Given the description of an element on the screen output the (x, y) to click on. 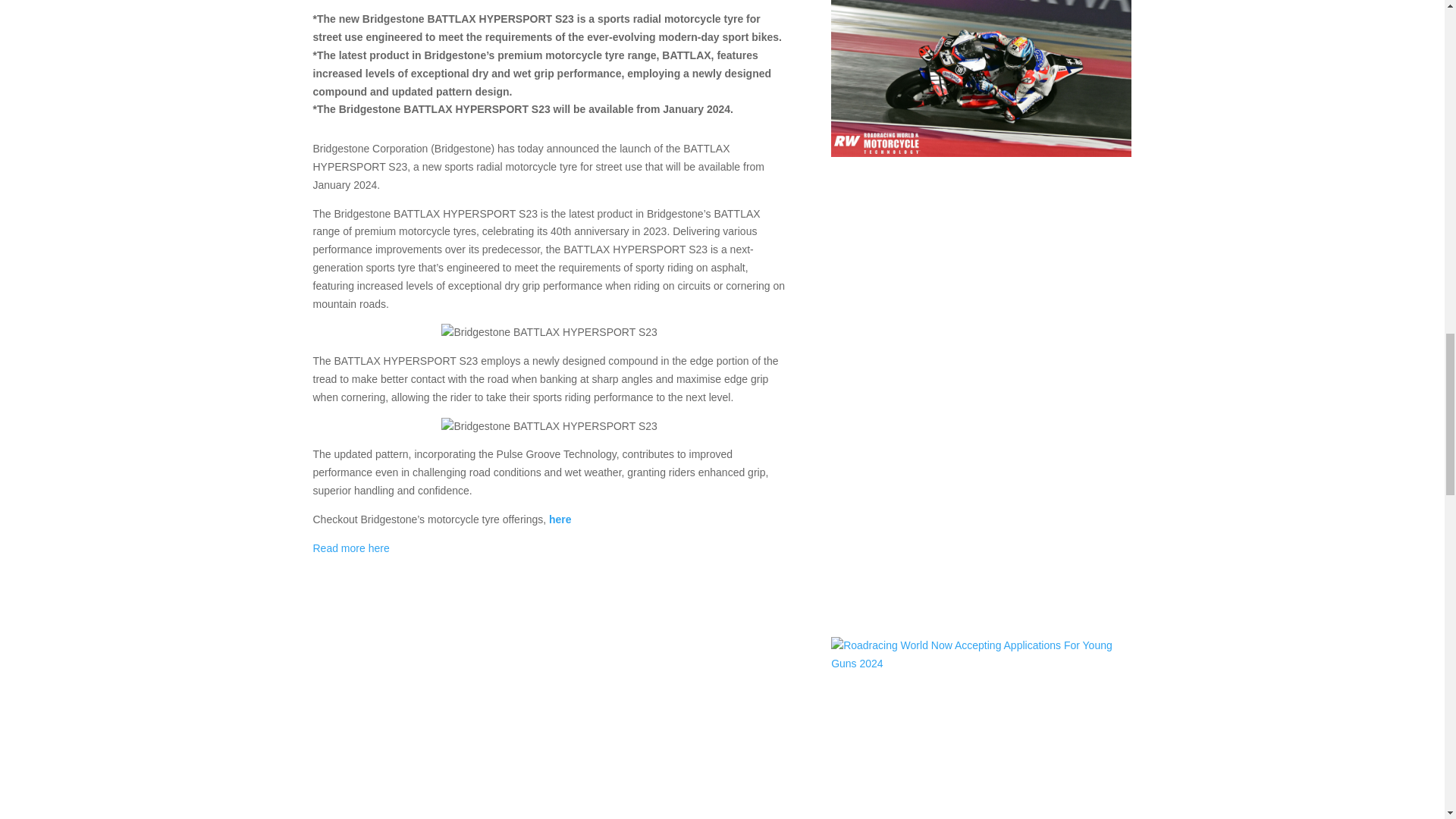
Ducati (1039, 230)
Posts by Team Racebolt (880, 230)
Aprilia (1004, 230)
Yamaha (924, 248)
motoGP News (865, 248)
Posts by Team Racebolt (880, 467)
KTM (1109, 230)
here (560, 519)
Suzuki (1108, 746)
MotoGP: More From The Qatar Airways Grand Prix Of Qatar (981, 78)
MotoGP: More From The Qatar Airways Grand Prix Of Qatar (952, 196)
motoGP News (1053, 746)
Honda (1004, 467)
